Given the description of an element on the screen output the (x, y) to click on. 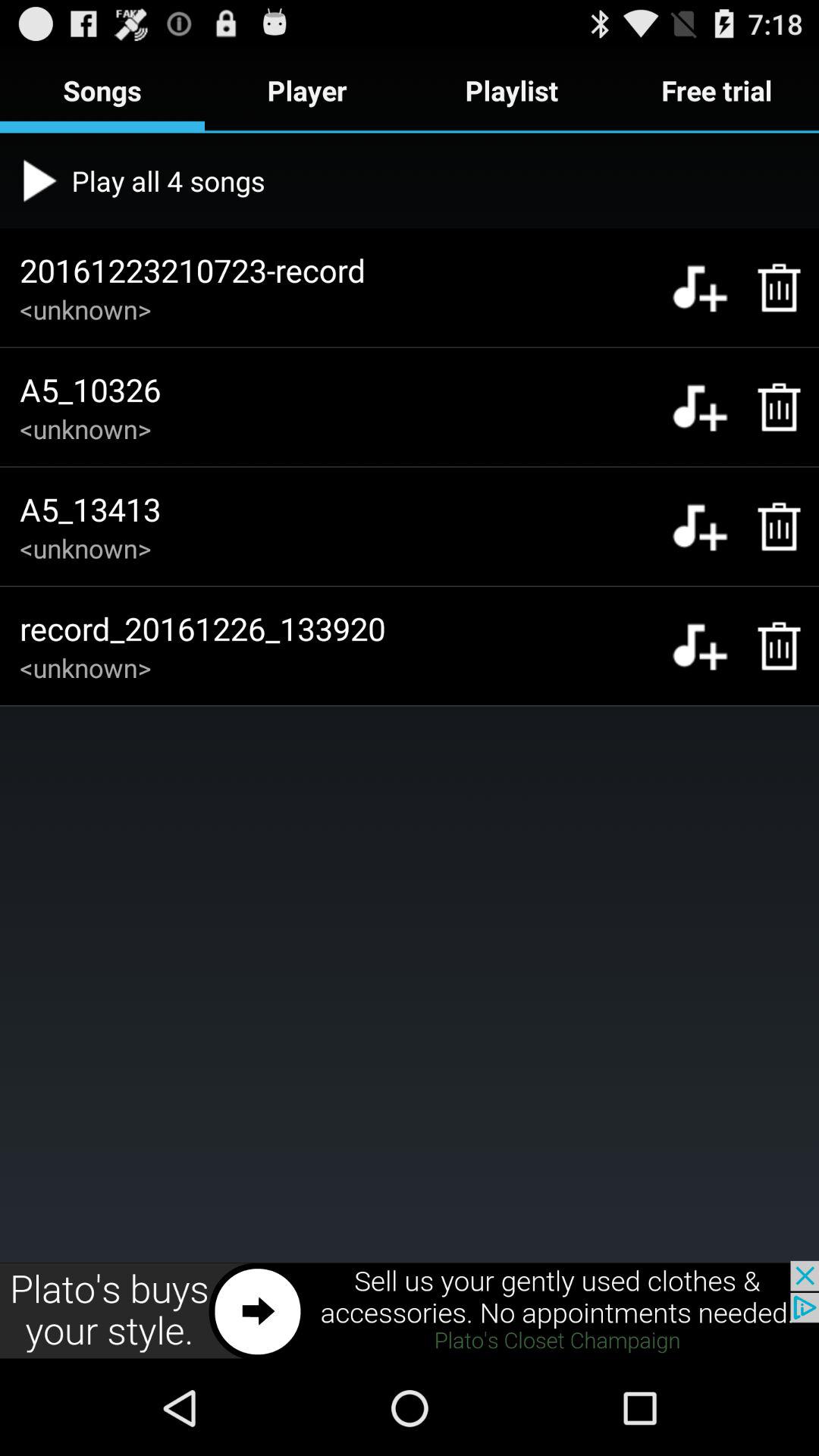
add to playlist (699, 645)
